Given the description of an element on the screen output the (x, y) to click on. 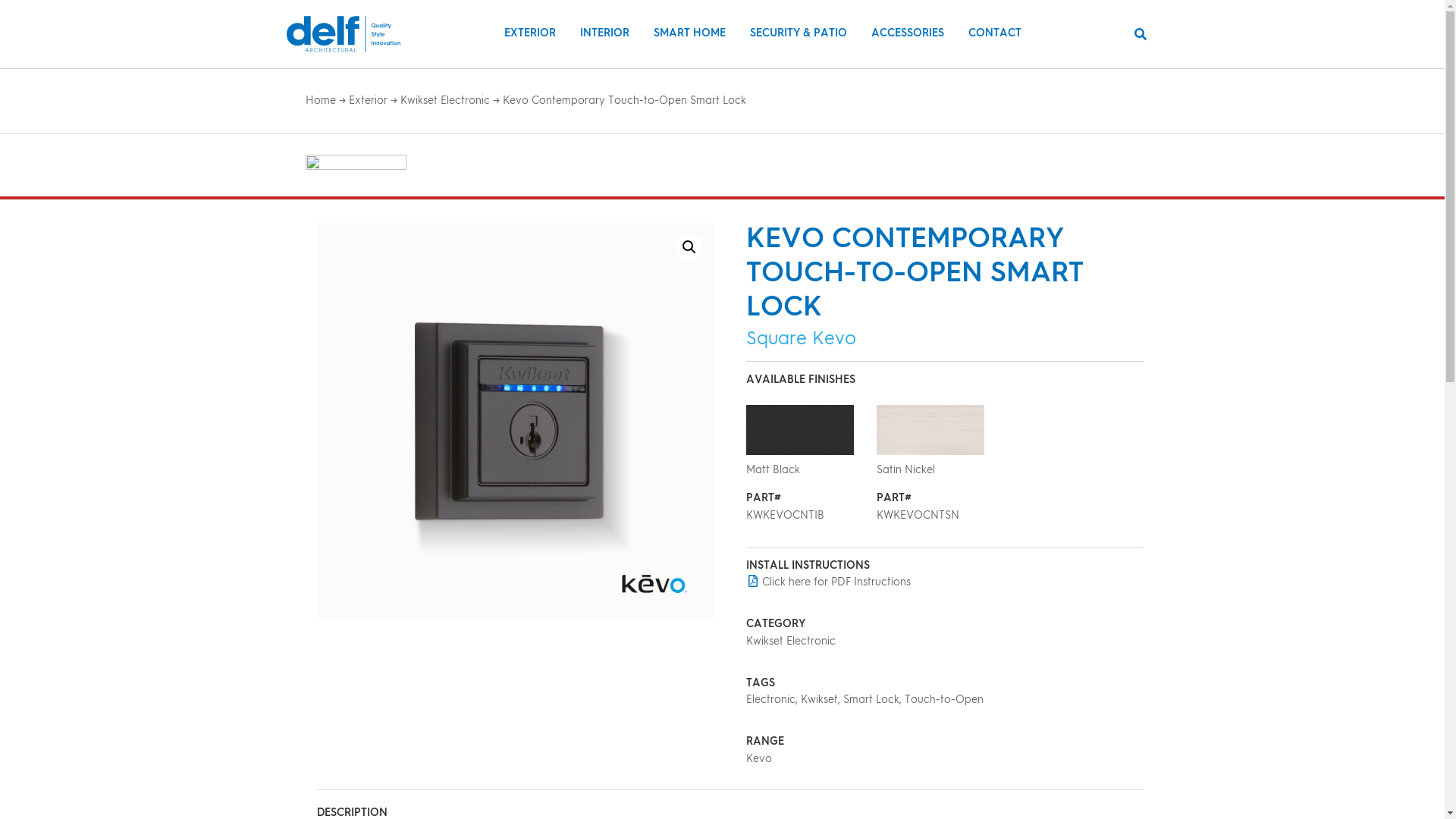
Kwikset Electronic Element type: text (444, 100)
EXTERIOR Element type: text (529, 33)
Kevo Element type: text (758, 758)
CONTACT Element type: text (994, 33)
1 Element type: hover (799, 429)
SECURITY & PATIO Element type: text (798, 33)
SMART HOME Element type: text (689, 33)
Home Element type: text (319, 100)
Kwikset Element type: text (818, 699)
INTERIOR Element type: text (604, 33)
Exterior Element type: text (367, 100)
1 Element type: hover (930, 429)
Kevo Contemporary Touch-to-Open Smart Lock 1 Element type: hover (514, 420)
Smart Lock Element type: text (871, 699)
ACCESSORIES Element type: text (907, 33)
Touch-to-Open Element type: text (943, 699)
Electronic Element type: text (770, 699)
Kwikset Electronic Element type: text (790, 641)
Click here for PDF Instructions Element type: text (828, 582)
